Given the description of an element on the screen output the (x, y) to click on. 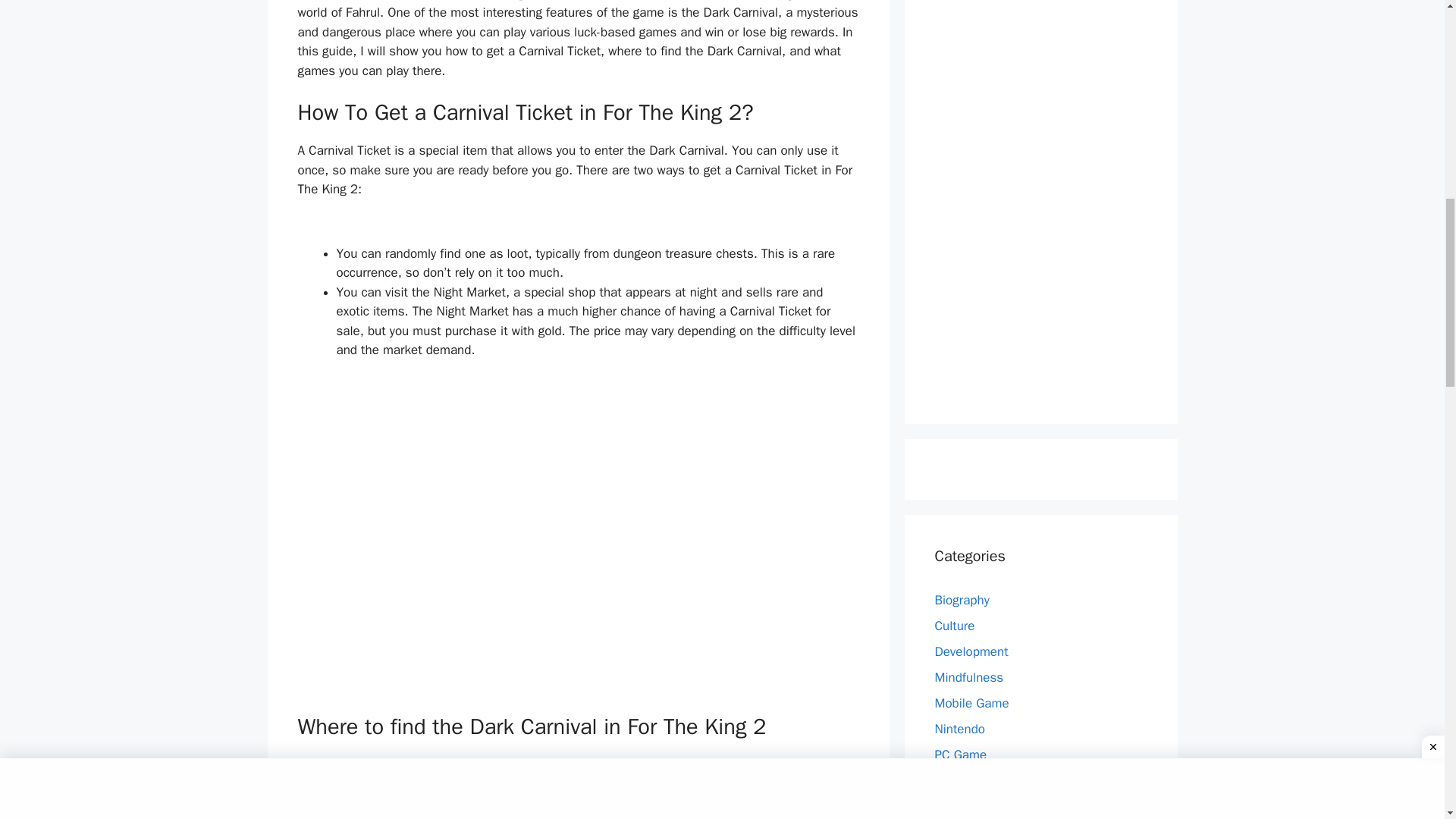
Development (970, 651)
Mobile Game (971, 703)
PC Game (960, 754)
Productivity (965, 806)
Play Station (967, 780)
Mindfulness (968, 677)
Nintendo (959, 729)
Culture (954, 625)
Biography (961, 600)
